Given the description of an element on the screen output the (x, y) to click on. 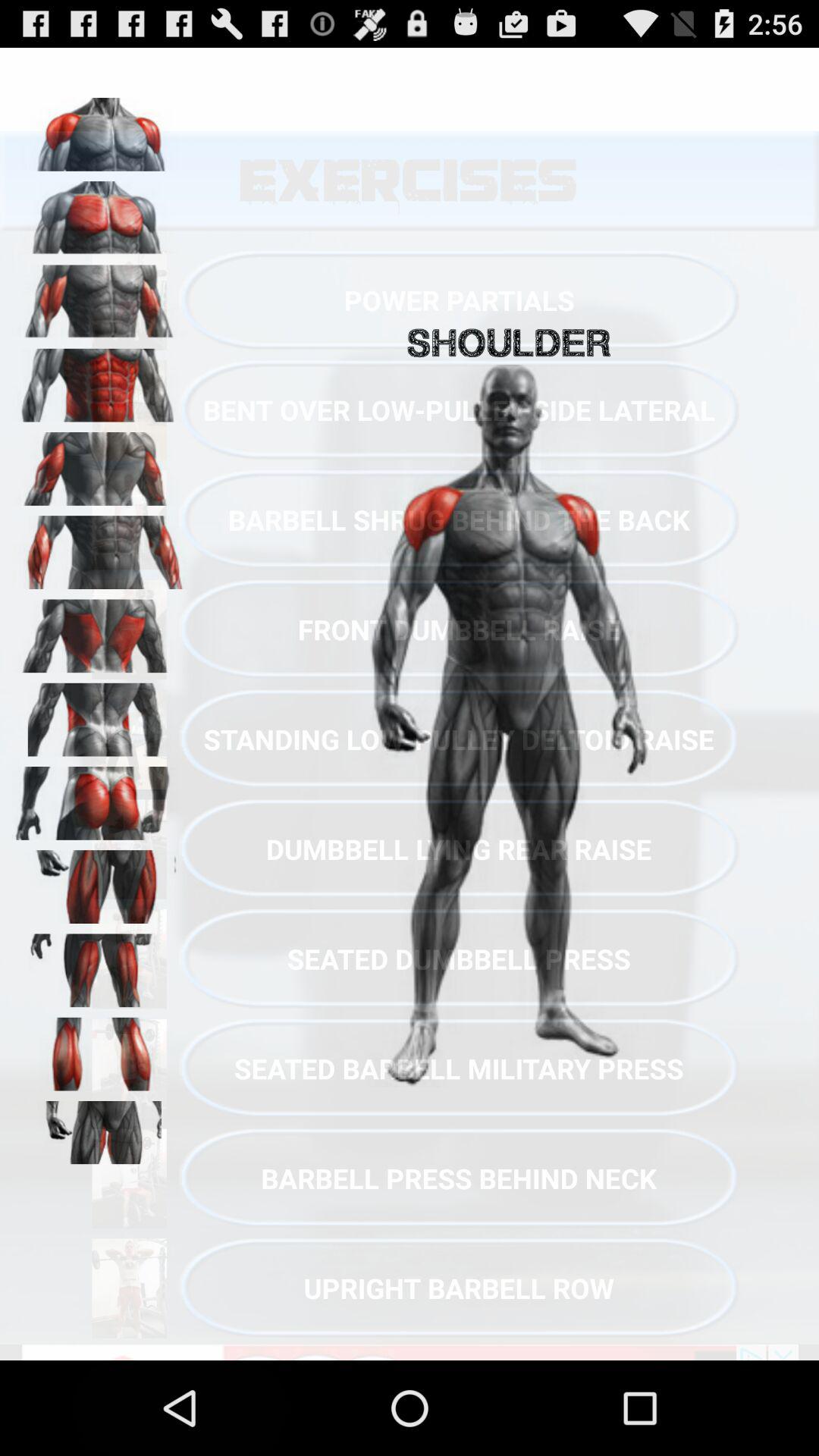
choose to exercise this part of your leg (99, 1048)
